Given the description of an element on the screen output the (x, y) to click on. 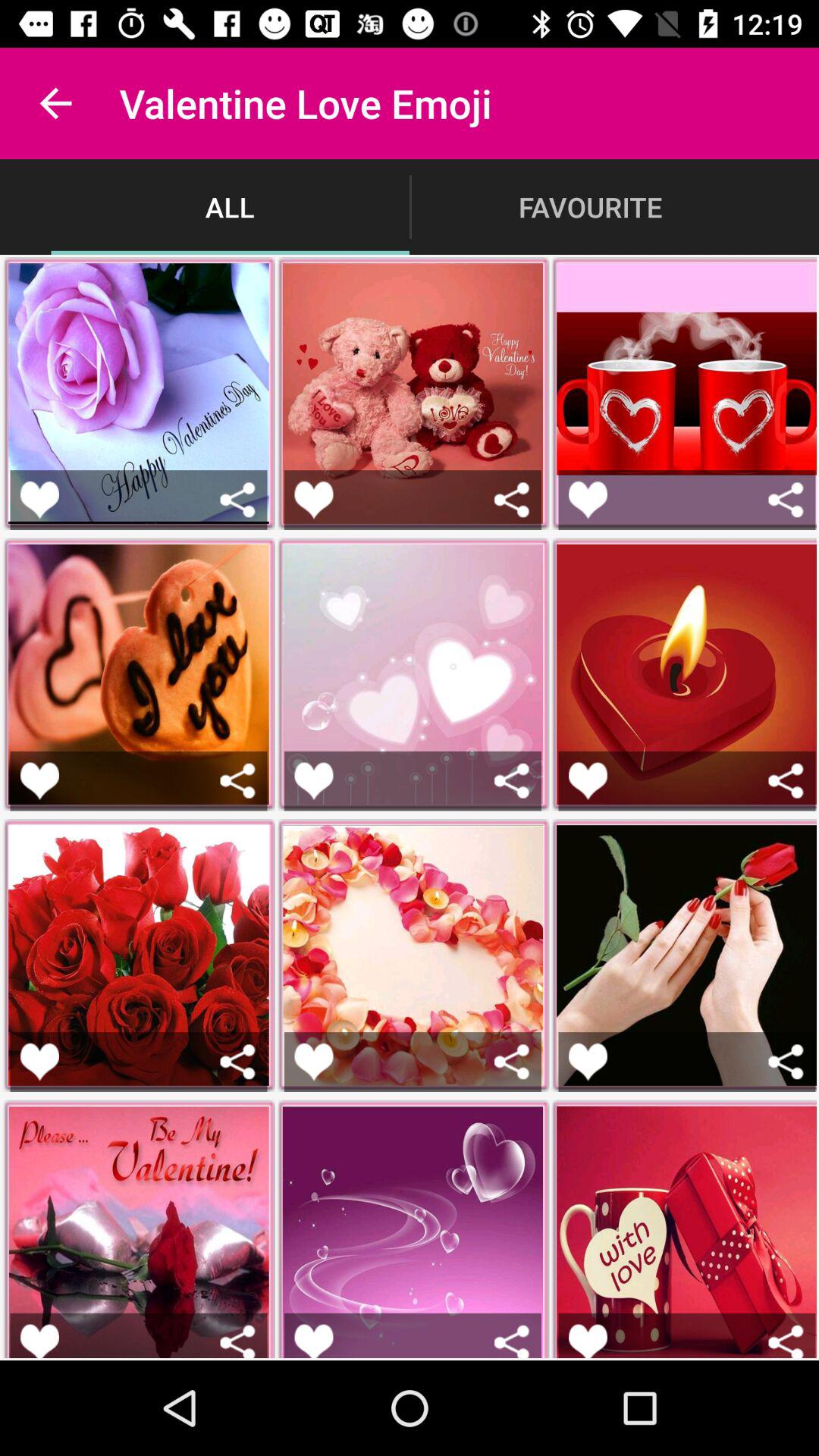
add to favorites (313, 1061)
